Given the description of an element on the screen output the (x, y) to click on. 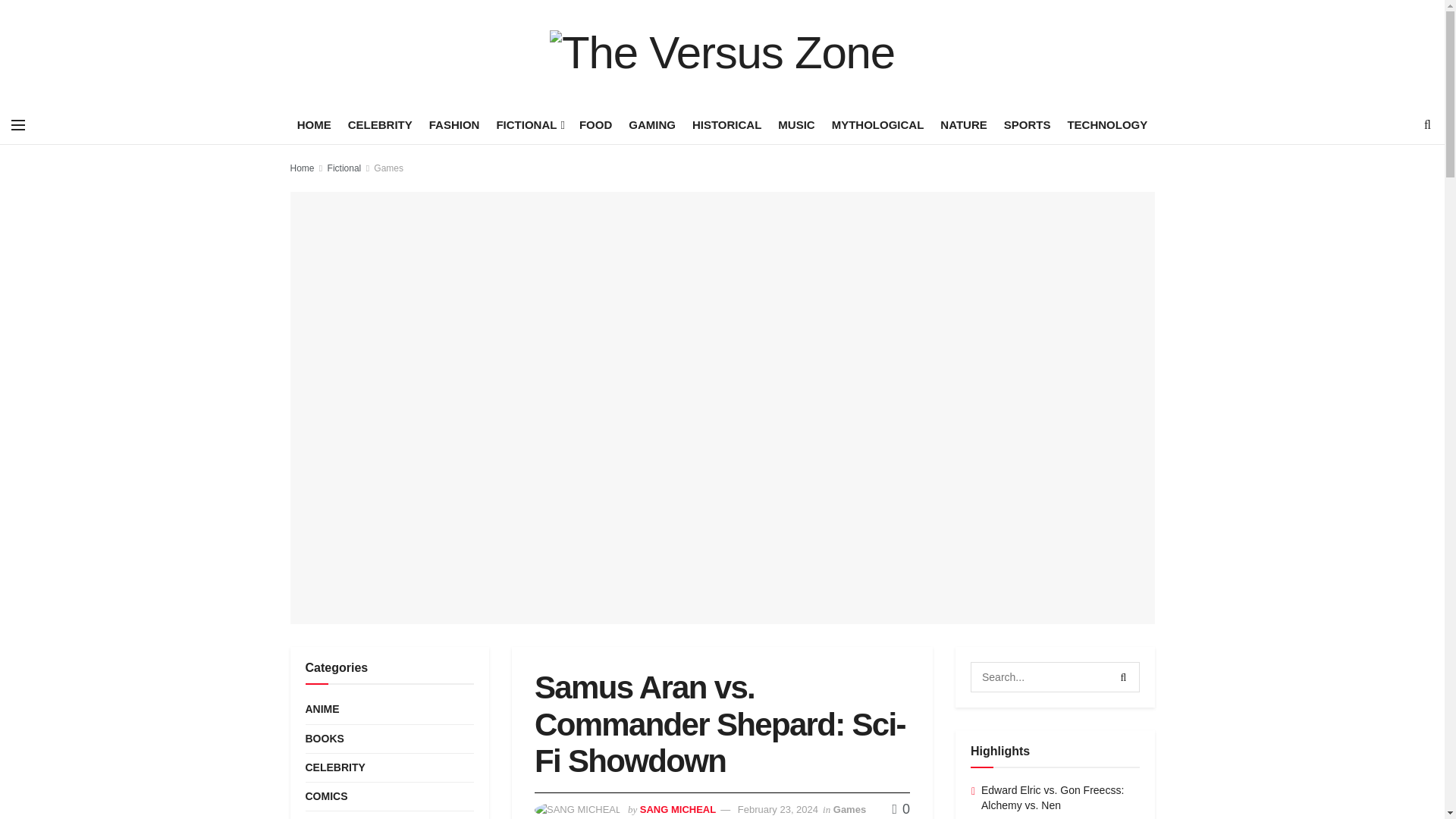
FOOD (595, 124)
MYTHOLOGICAL (877, 124)
HISTORICAL (727, 124)
FASHION (454, 124)
MUSIC (795, 124)
CELEBRITY (379, 124)
SPORTS (1027, 124)
GAMING (651, 124)
NATURE (963, 124)
FICTIONAL (529, 124)
